Given the description of an element on the screen output the (x, y) to click on. 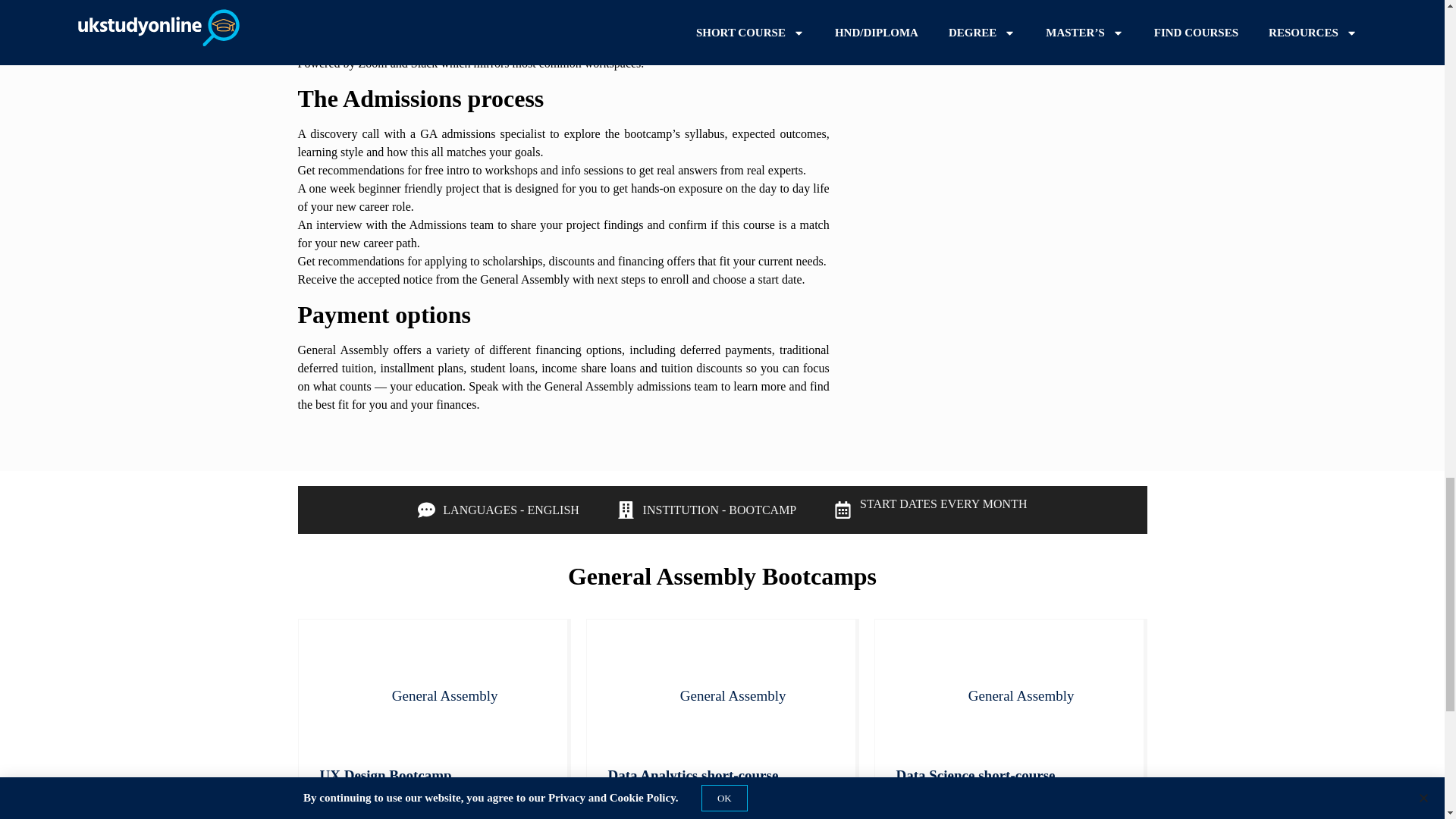
GA Logo 250 x 250 px (924, 695)
GA Logo 250 x 250 px (636, 695)
GA Logo 250 x 250 px (348, 695)
